Given the description of an element on the screen output the (x, y) to click on. 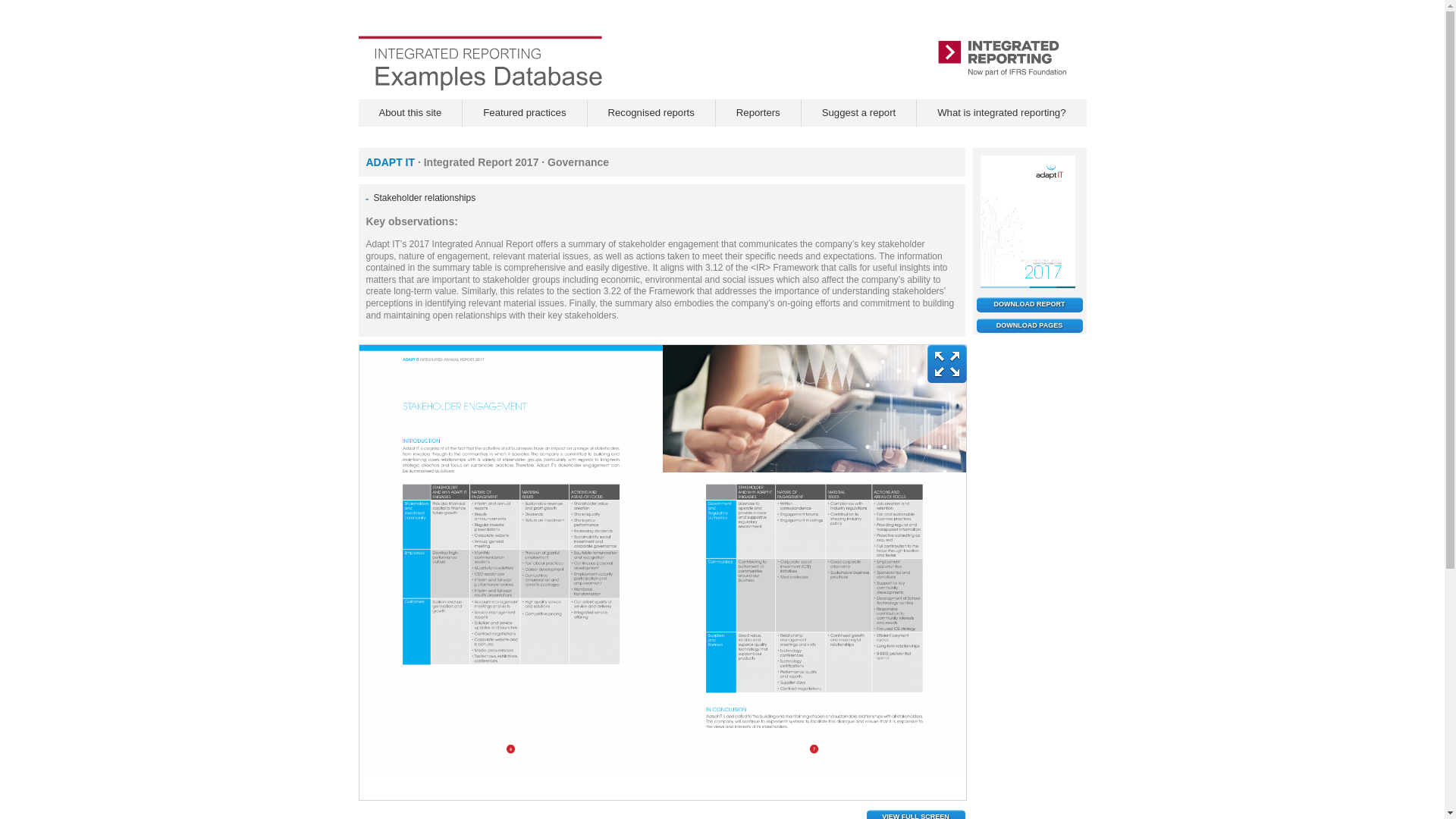
Recognised reports (650, 112)
DOWNLOAD PAGES (1029, 325)
Reporters (758, 112)
About this site (409, 112)
the PDF document will open in a new window (1029, 304)
What is integrated reporting? (1001, 112)
VIEW FULL SCREEN (914, 814)
DOWNLOAD REPORT (1029, 304)
Suggest a report (858, 112)
Featured practices (524, 112)
